Given the description of an element on the screen output the (x, y) to click on. 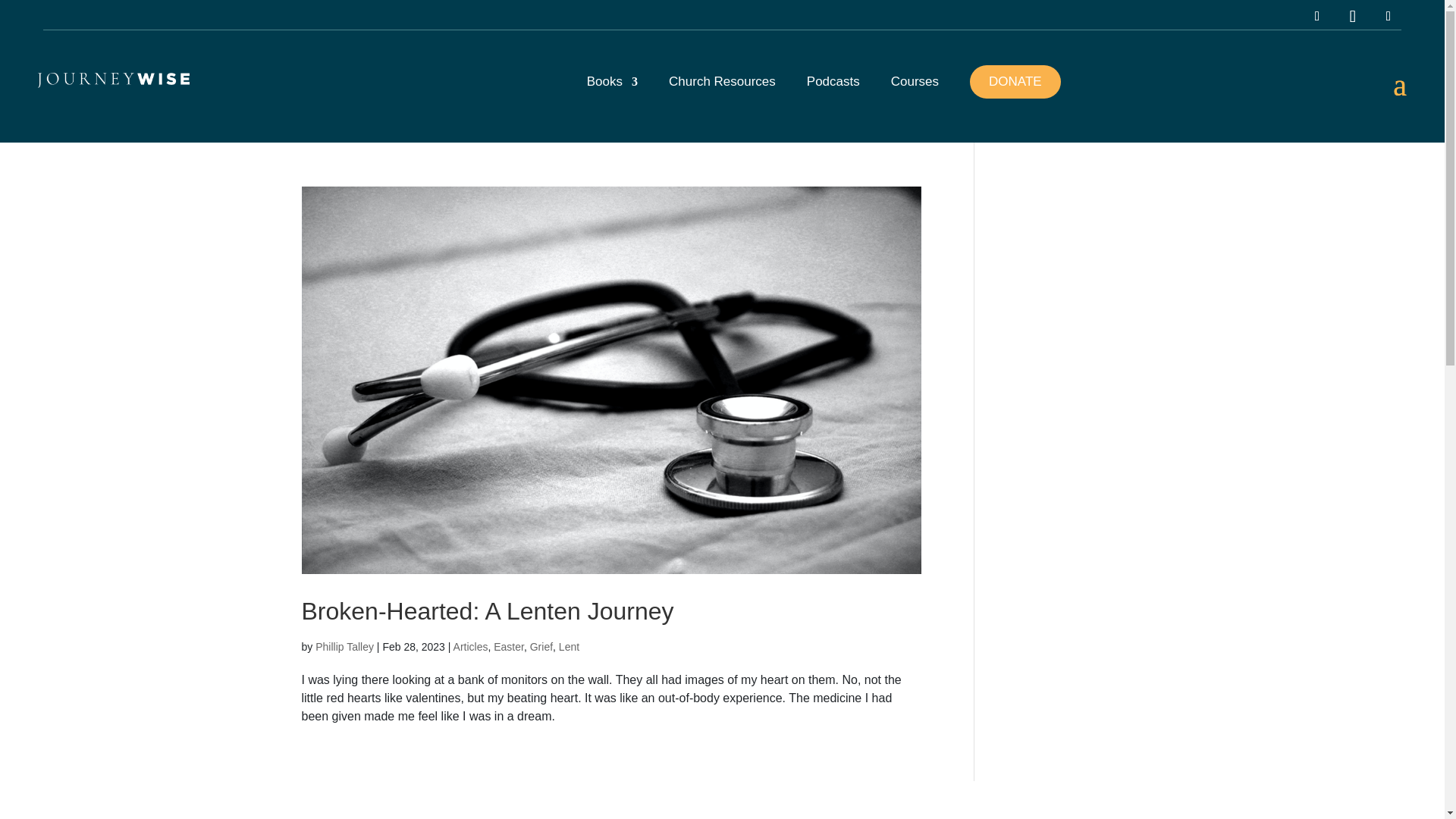
Podcasts (833, 94)
Posts by Phillip Talley (344, 646)
Follow on Instagram (1317, 16)
Grief (541, 646)
DONATE (1015, 81)
Easter (508, 646)
Books (611, 94)
Follow on Facebook (1387, 16)
Lent (569, 646)
Articles (469, 646)
